Given the description of an element on the screen output the (x, y) to click on. 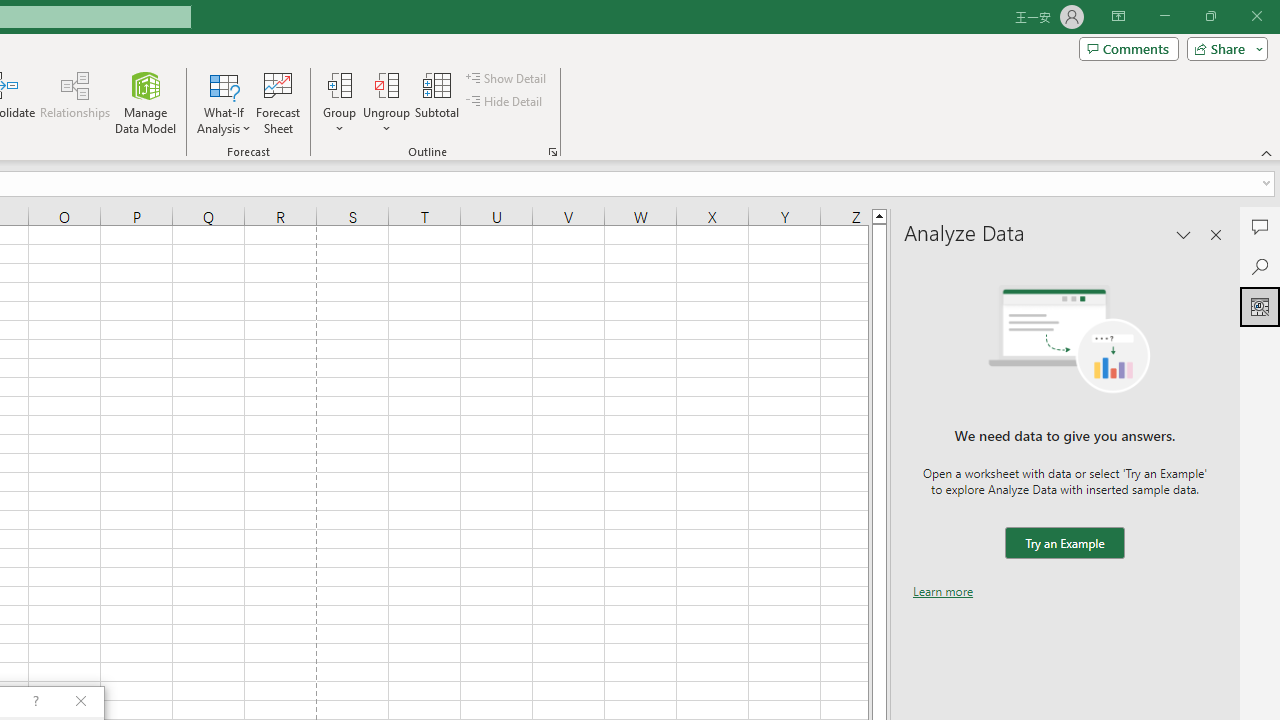
Ungroup... (386, 84)
Ribbon Display Options (1118, 16)
More Options (386, 121)
Show Detail (507, 78)
Forecast Sheet (278, 102)
Learn more (943, 591)
Close pane (1215, 234)
Comments (1260, 226)
We need data to give you answers. Try an Example (1064, 543)
Share (1223, 48)
Analyze Data (1260, 306)
Comments (1128, 48)
Group... (339, 84)
